Given the description of an element on the screen output the (x, y) to click on. 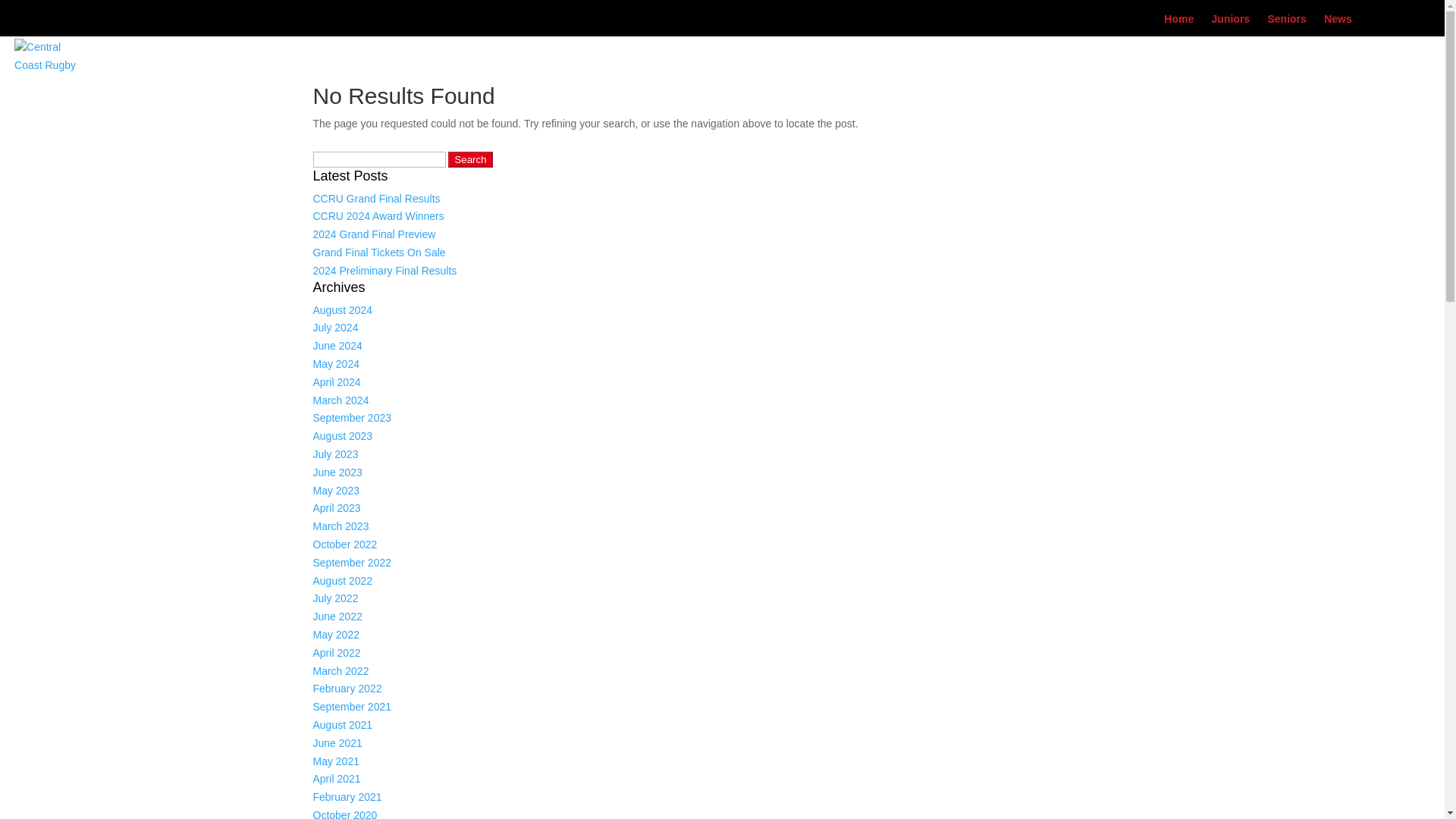
Search (470, 159)
August 2022 (342, 580)
CCRU Grand Final Results (376, 198)
July 2022 (335, 598)
September 2022 (352, 562)
June 2024 (337, 345)
Juniors (1230, 19)
Senior Rugby (121, 83)
News (1337, 19)
September 2023 (352, 417)
